Given the description of an element on the screen output the (x, y) to click on. 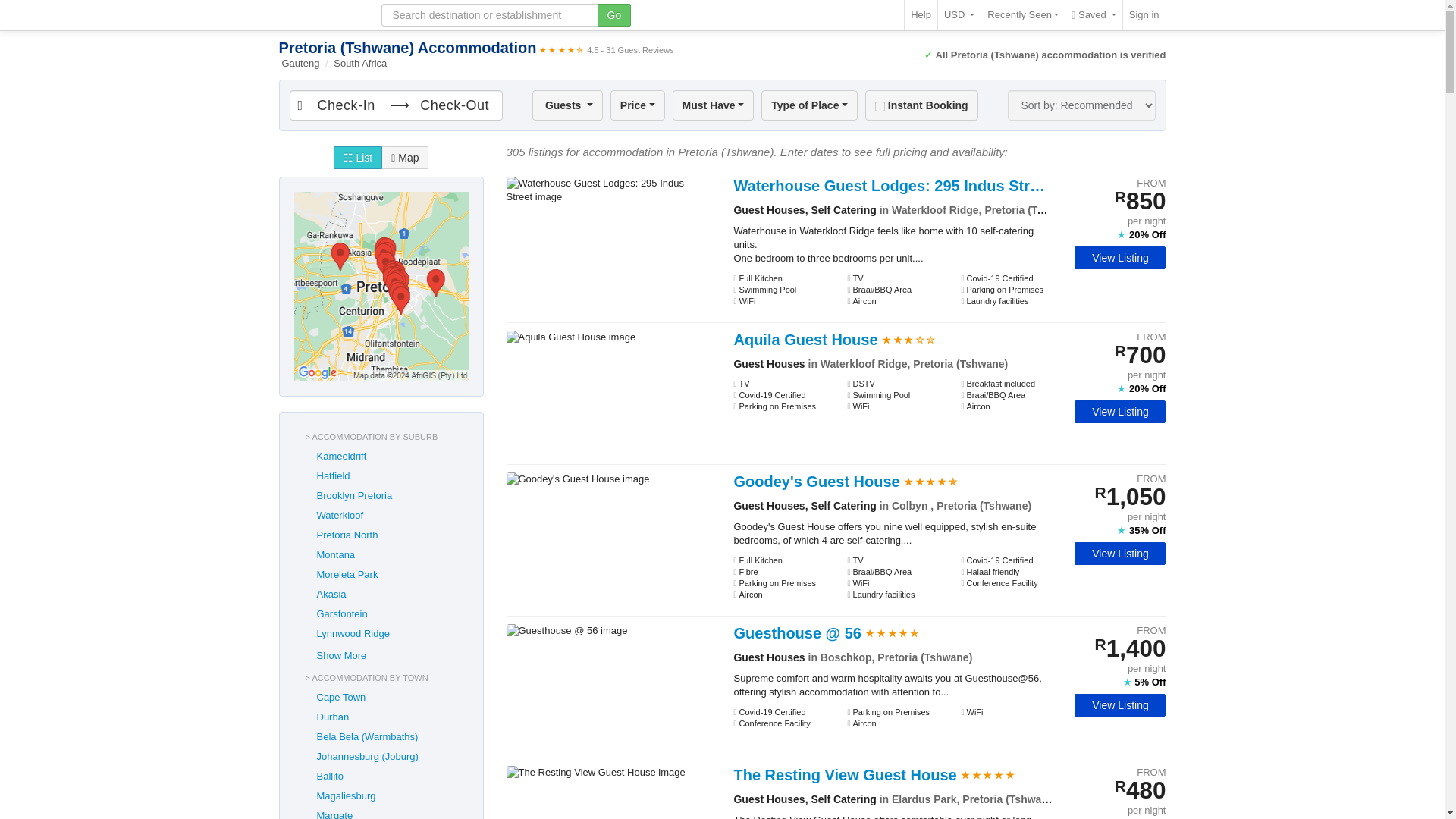
South Africa (360, 62)
Gauteng (302, 62)
 Saved (1093, 15)
Sign in (1144, 15)
Help (920, 15)
Recently Seen (1022, 15)
USD (958, 15)
Go (613, 15)
Price (637, 105)
 Guests (567, 105)
on (880, 106)
